Given the description of an element on the screen output the (x, y) to click on. 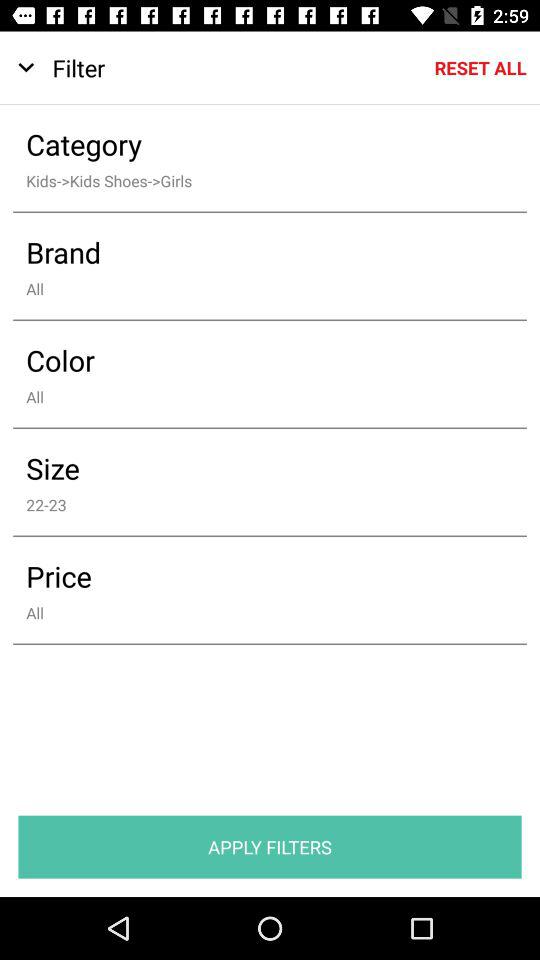
launch the icon below the all icon (256, 359)
